Given the description of an element on the screen output the (x, y) to click on. 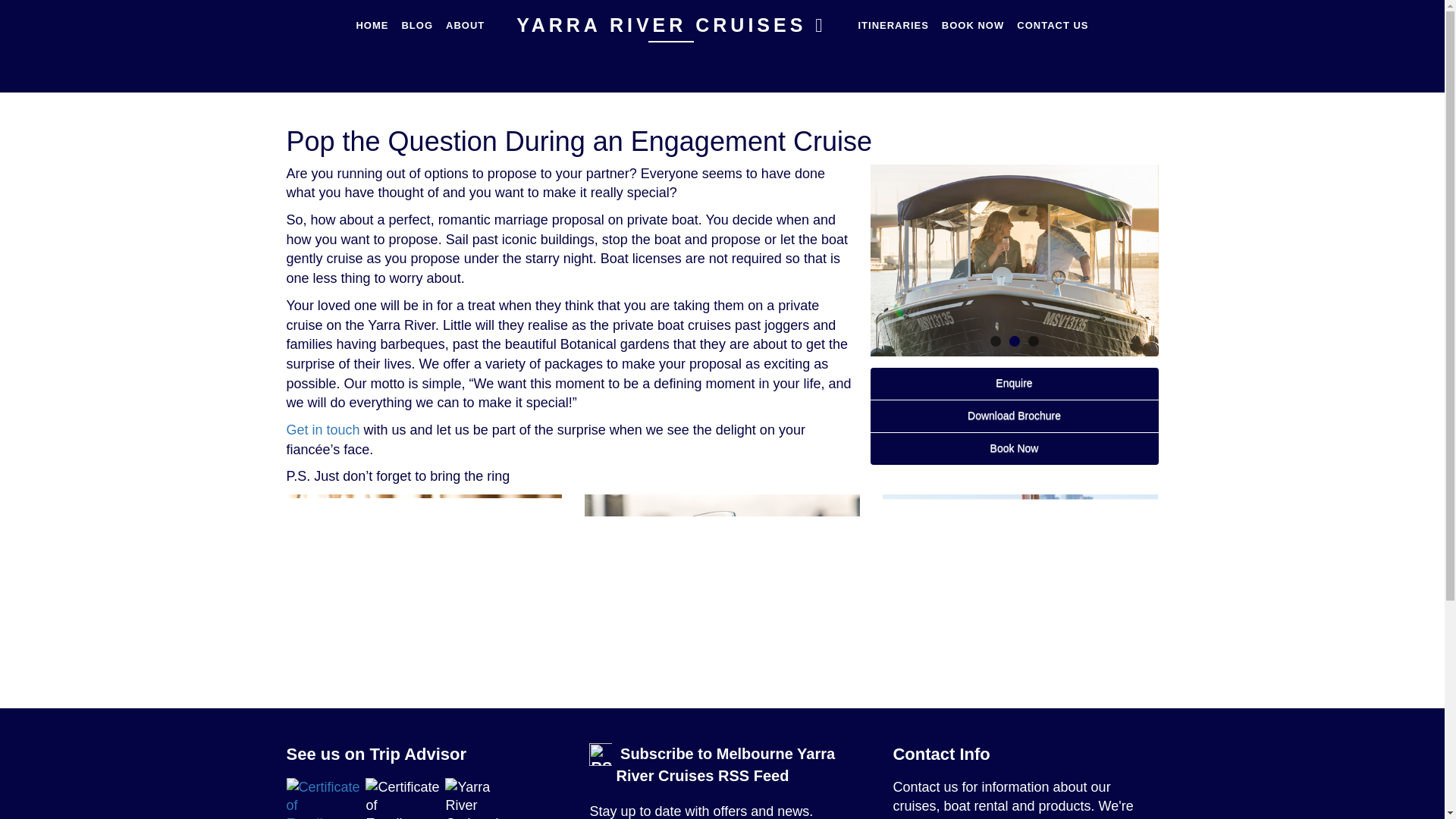
ABOUT (464, 24)
Book Now (1014, 449)
Get in touch (322, 429)
Enquire (1014, 383)
Yarra River Cruises (670, 24)
CONTACT US (1052, 24)
 Subscribe to Melbourne Yarra River Cruises RSS Feed (724, 764)
About (464, 24)
BOOK NOW (972, 24)
Itineraries (892, 24)
